Given the description of an element on the screen output the (x, y) to click on. 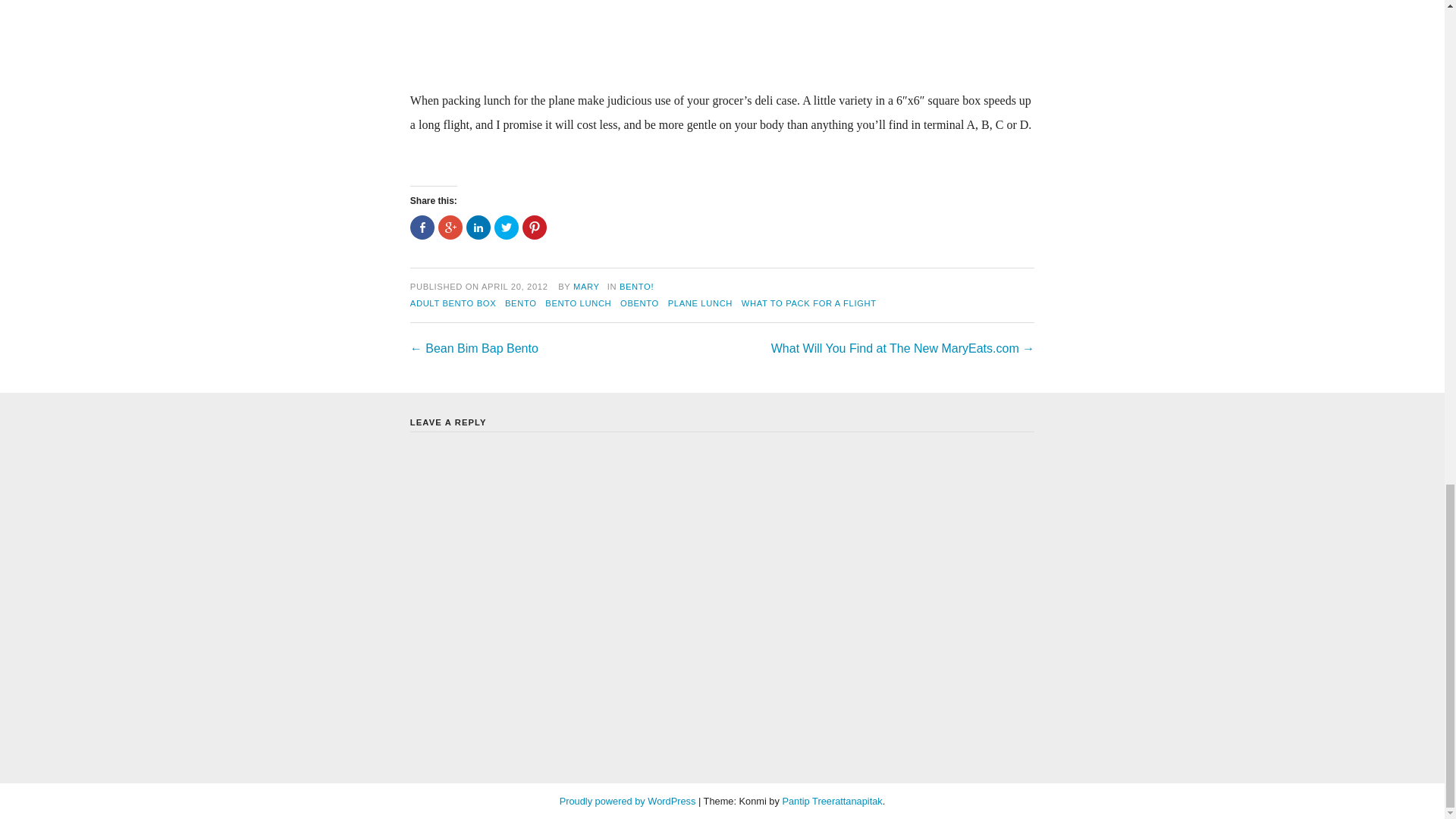
Click to share on Pinterest (534, 227)
OBENTO (639, 302)
BENTO LUNCH (577, 302)
Share on Facebook (421, 227)
Click to share on Twitter (506, 227)
ADULT BENTO BOX (453, 302)
Proudly powered by WordPress (627, 800)
Click to share on LinkedIn (477, 227)
BENTO (521, 302)
PLANE LUNCH (700, 302)
